Given the description of an element on the screen output the (x, y) to click on. 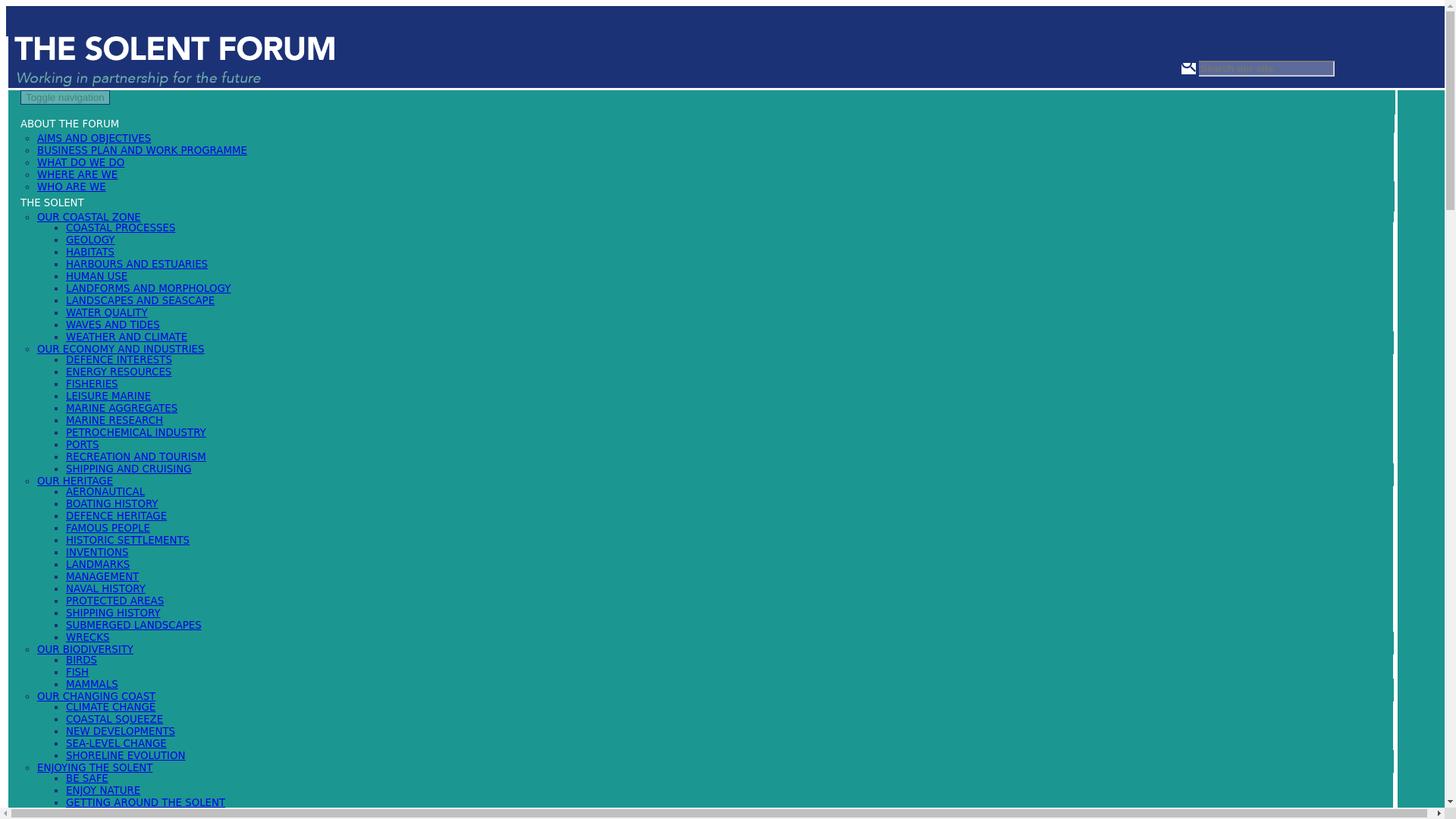
WEATHER AND CLIMATE (126, 337)
WHAT DO WE DO (80, 162)
FISHERIES (91, 383)
HUMAN USE (96, 276)
HABITATS (90, 251)
LANDFORMS AND MORPHOLOGY (147, 288)
OUR HERITAGE (75, 480)
INVENTIONS (96, 552)
BOATING HISTORY (111, 503)
BUSINESS PLAN AND WORK PROGRAMME (142, 150)
HISTORIC SETTLEMENTS (127, 540)
WAVES AND TIDES (112, 324)
PROTECTED AREAS (114, 600)
LEISURE MARINE (108, 396)
DEFENCE HERITAGE (116, 515)
